Given the description of an element on the screen output the (x, y) to click on. 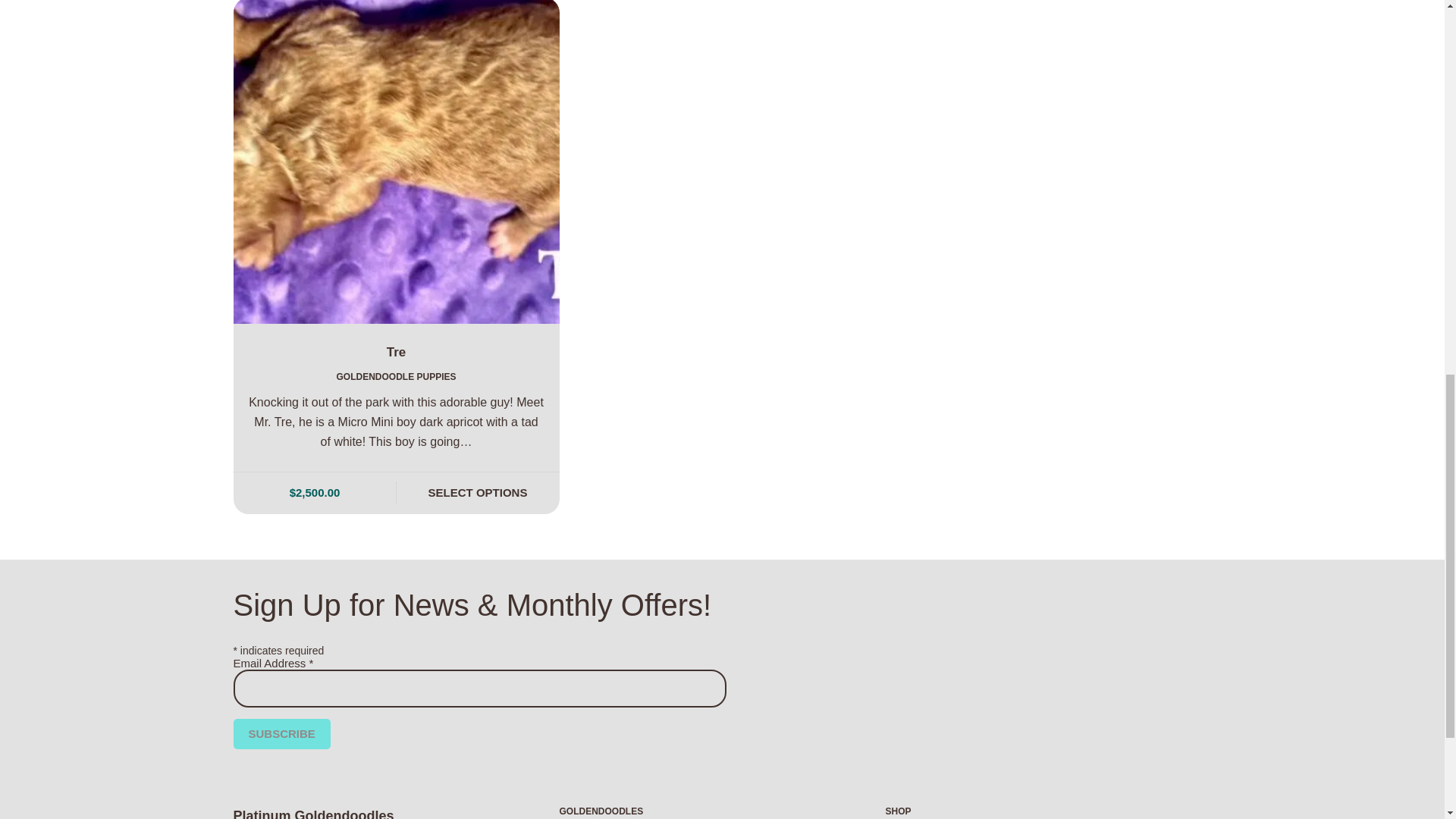
tre1 (395, 161)
Subscribe (281, 734)
